Given the description of an element on the screen output the (x, y) to click on. 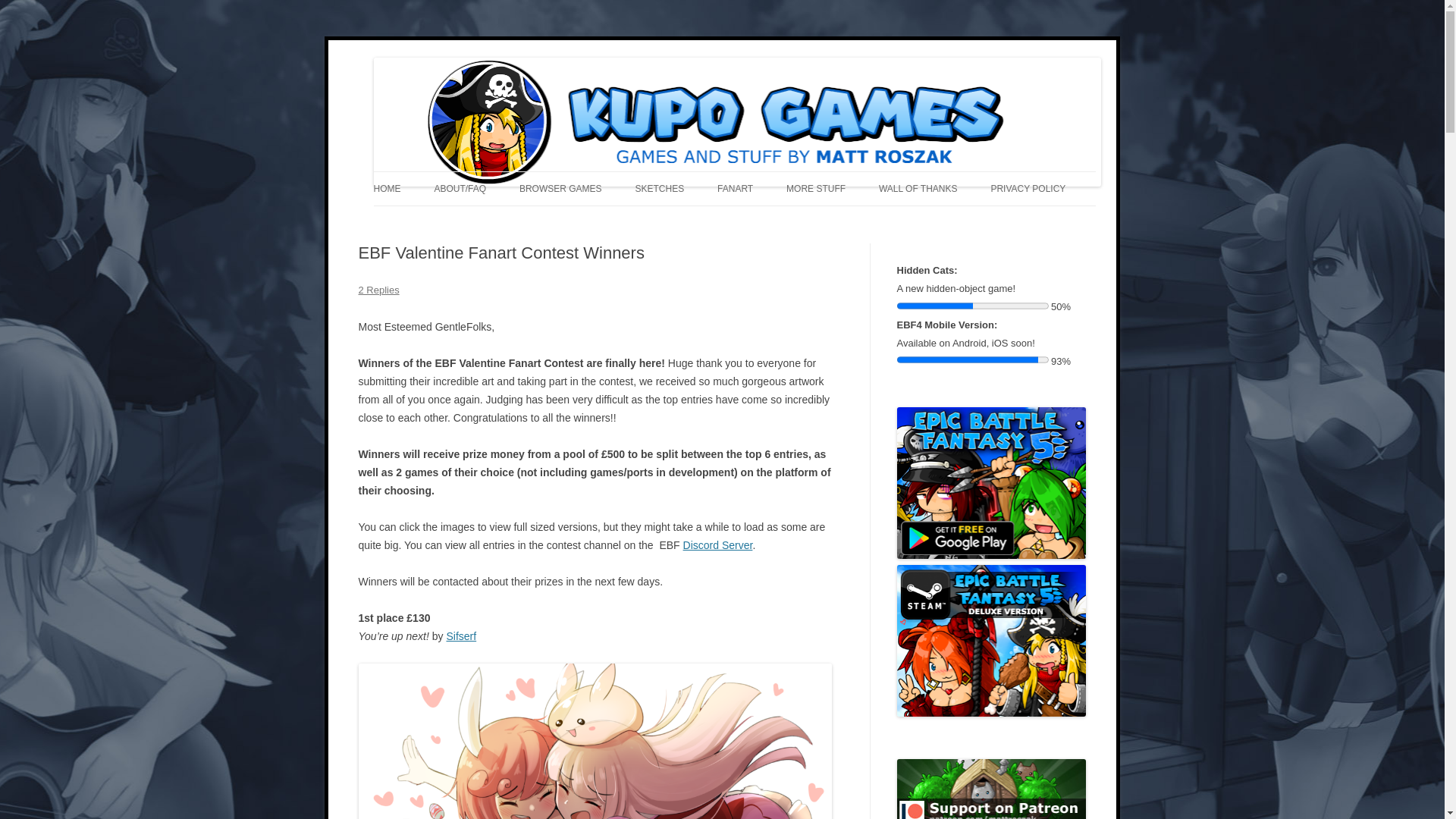
Kupo Games (433, 57)
FANART (734, 188)
WALL OF THANKS (918, 188)
Steam (991, 640)
BROWSER GAMES (560, 188)
PRIVACY POLICY (1027, 188)
Discord Server (717, 544)
Android (991, 482)
MORE STUFF (815, 188)
SKETCHES (659, 188)
2 Replies (378, 289)
Patreon (991, 789)
Sifserf (460, 635)
